Given the description of an element on the screen output the (x, y) to click on. 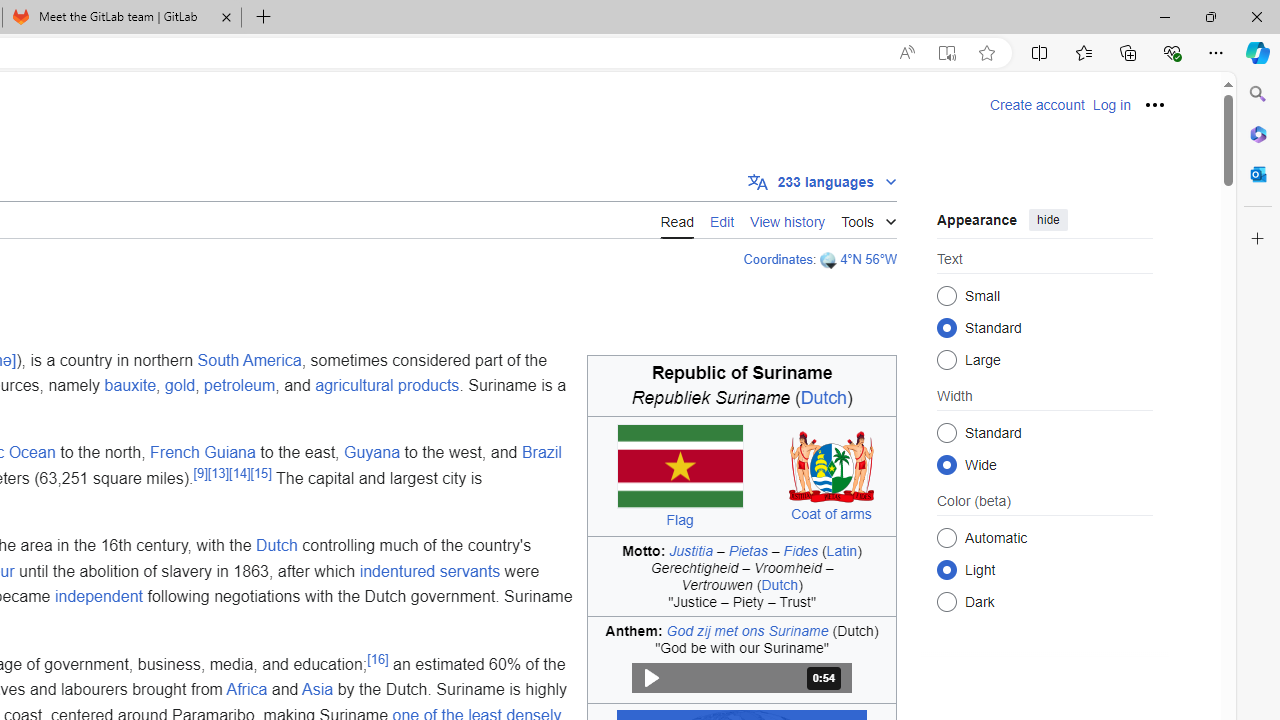
bauxite (130, 386)
Dutch (276, 546)
Log in (1111, 105)
Brazil (540, 453)
Asia (318, 690)
South America (249, 359)
View history (787, 219)
Standard (946, 431)
